Given the description of an element on the screen output the (x, y) to click on. 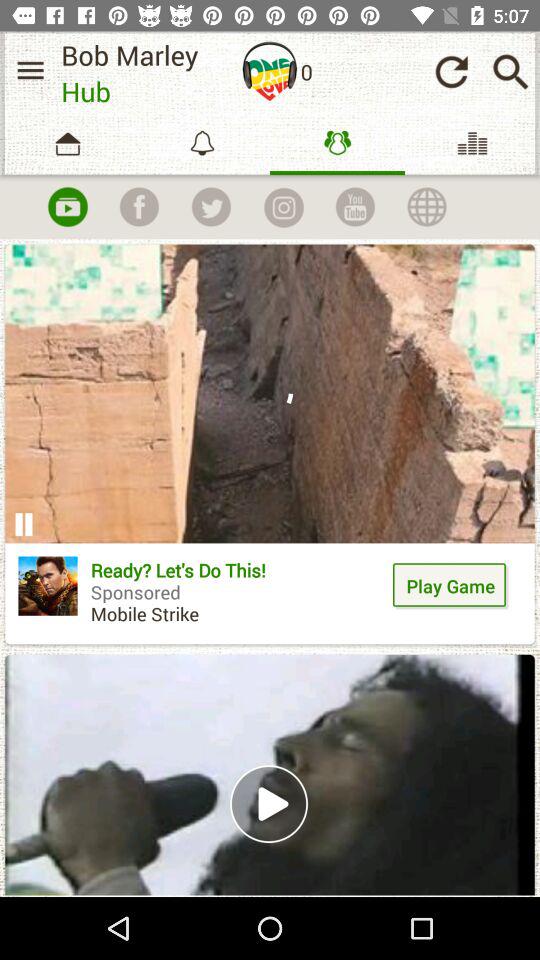
visit on twitter (211, 207)
